Given the description of an element on the screen output the (x, y) to click on. 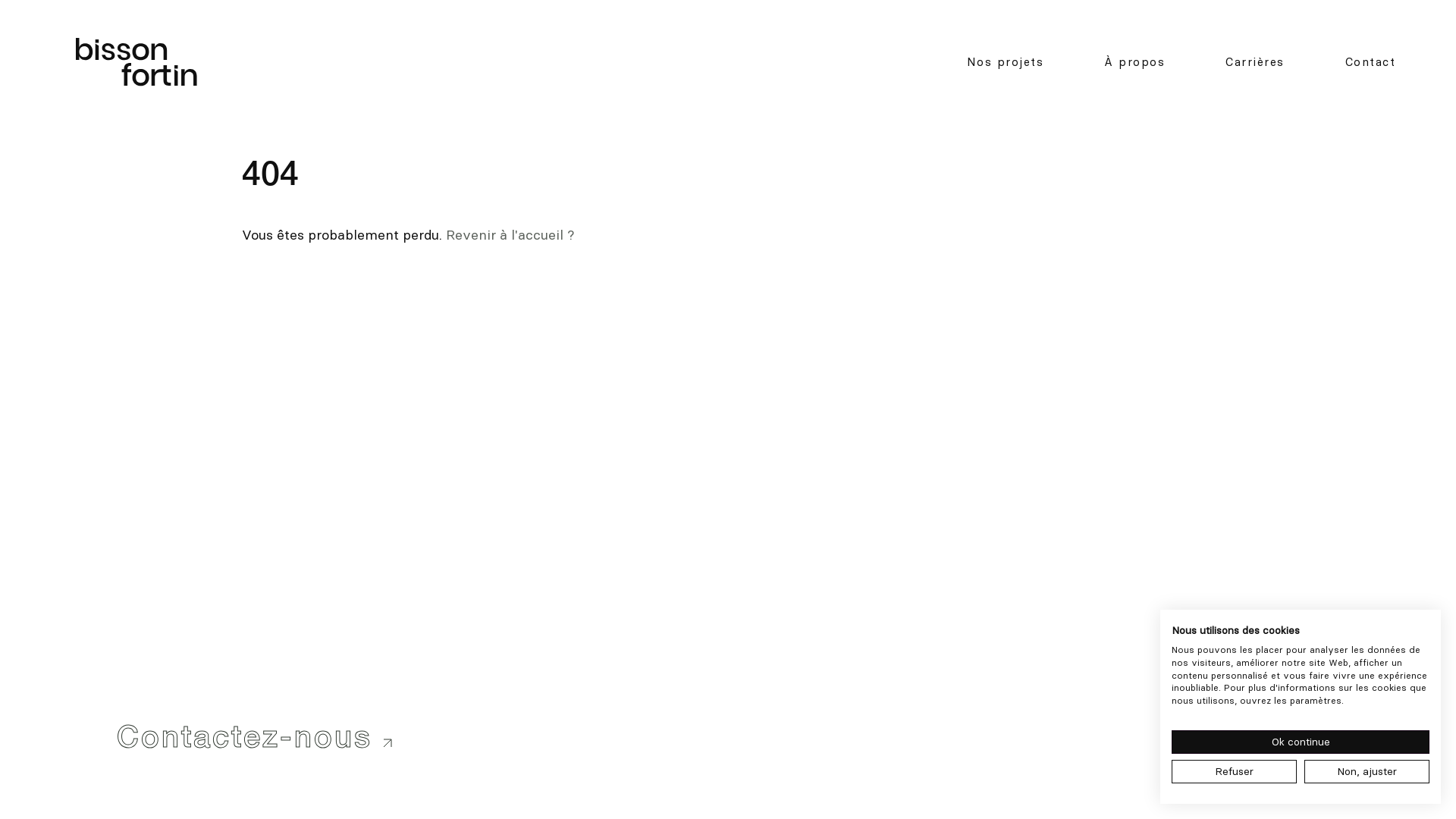
Contactez-nous Element type: text (254, 735)
Accueil Element type: hover (136, 61)
Contact Element type: text (1370, 61)
Refuser Element type: text (1233, 771)
Nos projets Element type: text (1004, 61)
Non, ajuster Element type: text (1366, 771)
Ok continue Element type: text (1300, 741)
